Given the description of an element on the screen output the (x, y) to click on. 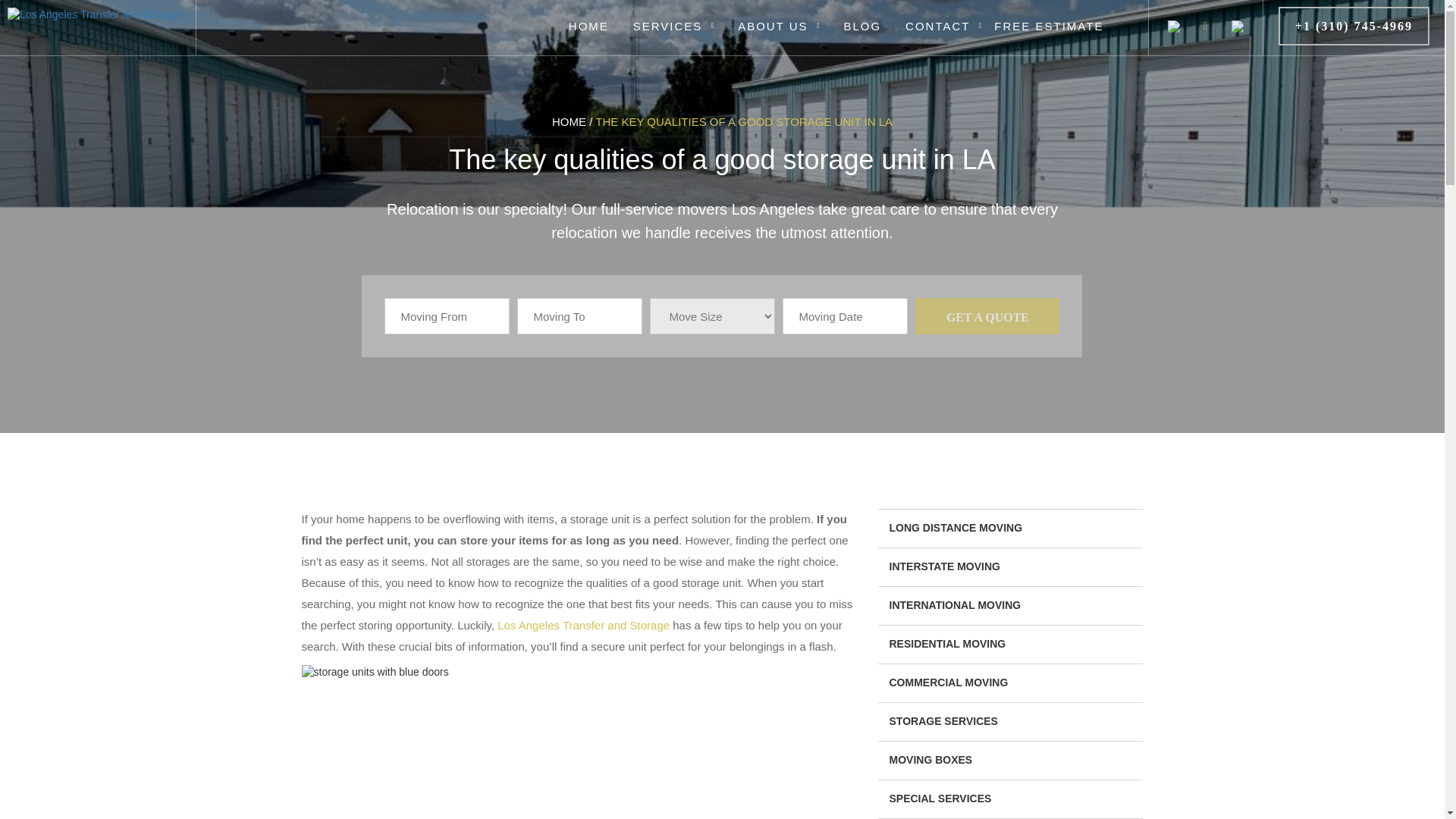
HOME (588, 21)
SERVICES (668, 21)
ABOUT US (772, 21)
Get A Quote (987, 316)
